Given the description of an element on the screen output the (x, y) to click on. 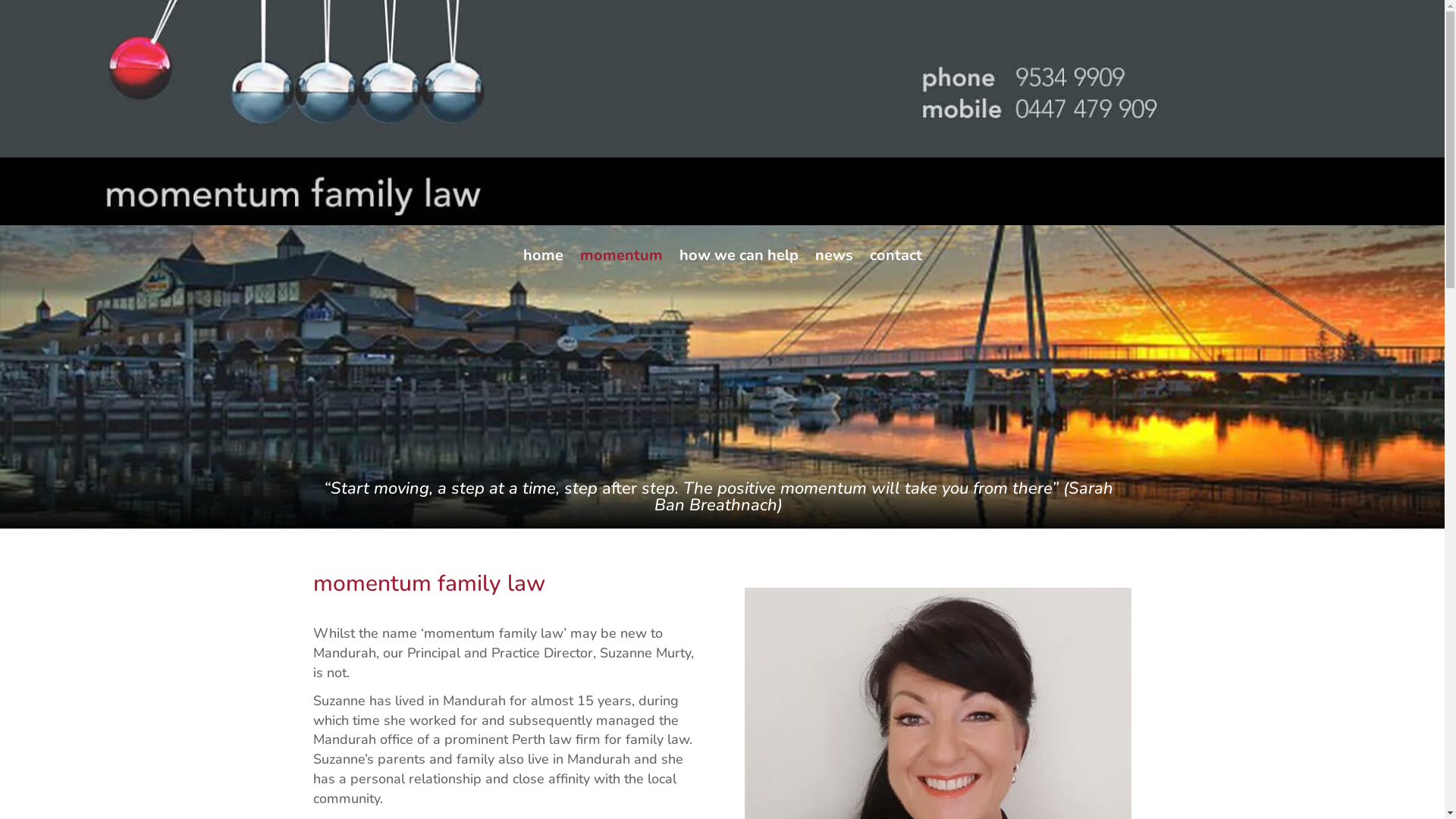
momentum Element type: text (620, 266)
Submit Element type: text (31, 9)
home Element type: text (543, 266)
contact Element type: text (895, 266)
how we can help Element type: text (738, 266)
news Element type: text (833, 266)
